Given the description of an element on the screen output the (x, y) to click on. 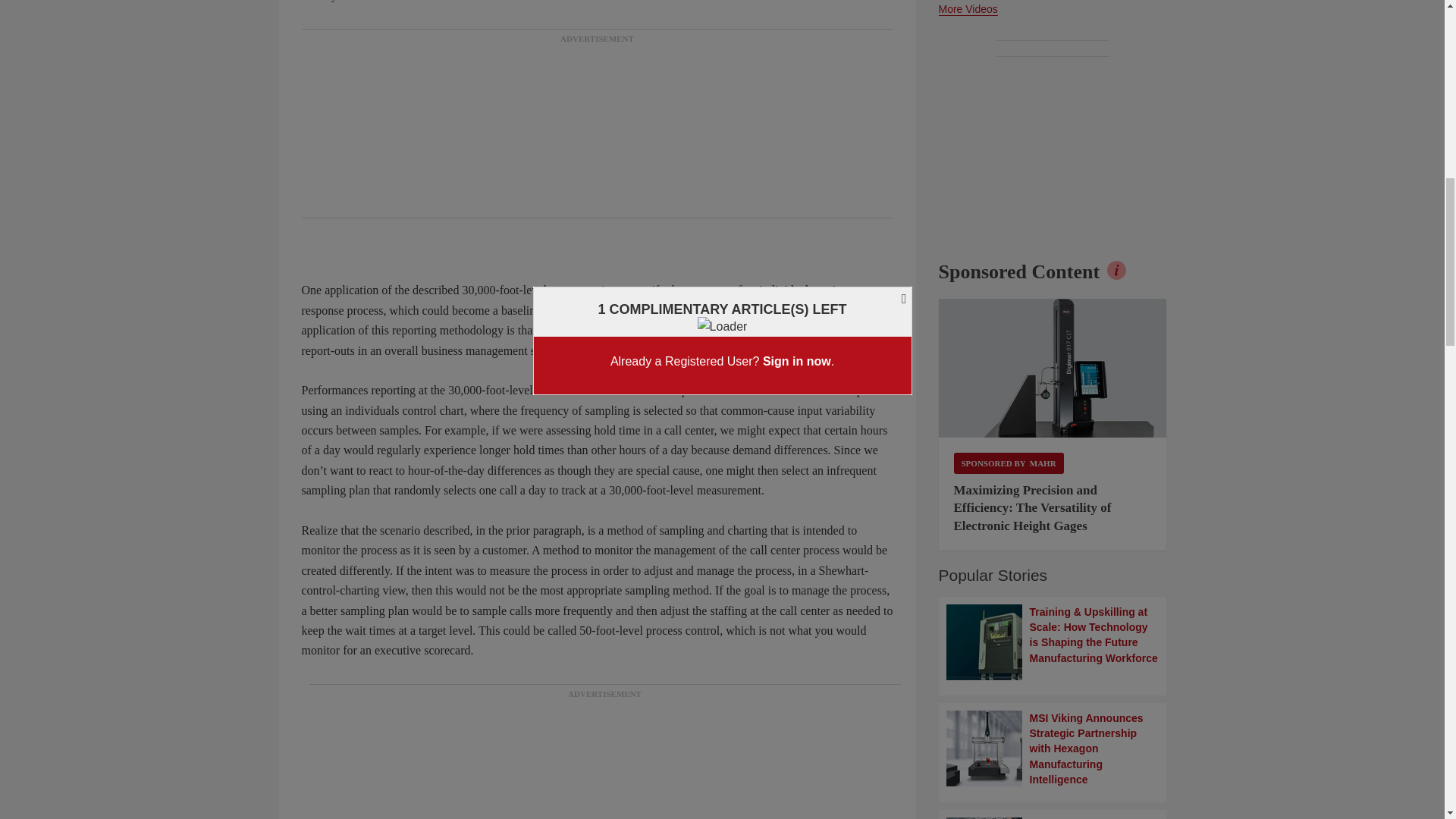
Sponsored by Mahr (1008, 462)
Digimar 817-CLT 4429601 with grey background (1052, 368)
